Given the description of an element on the screen output the (x, y) to click on. 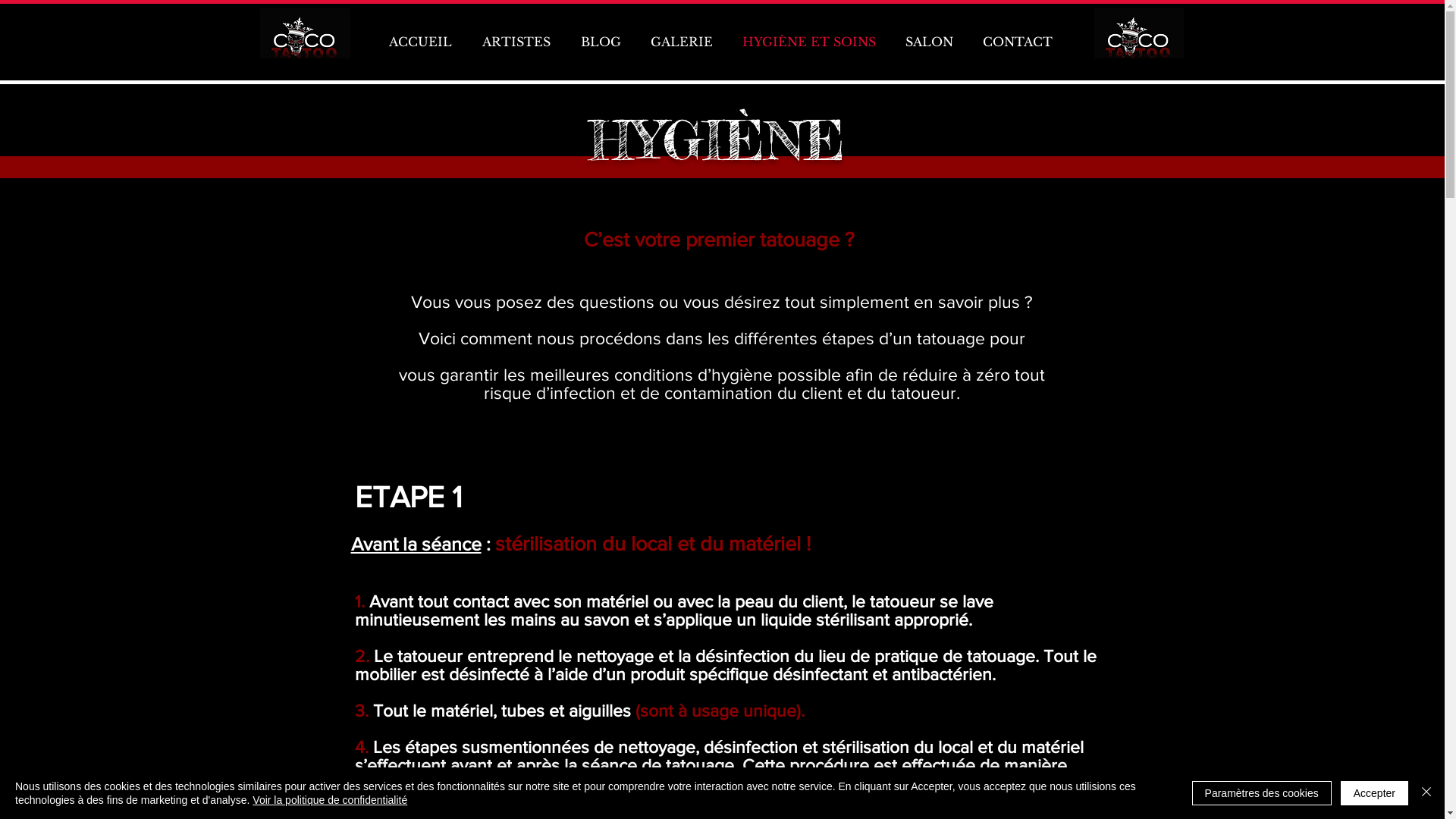
BLOG Element type: text (600, 41)
CONTACT Element type: text (1016, 41)
SALON Element type: text (928, 41)
ARTISTES Element type: text (516, 41)
ACCUEIL Element type: text (419, 41)
GALERIE Element type: text (681, 41)
Accepter Element type: text (1374, 793)
